Given the description of an element on the screen output the (x, y) to click on. 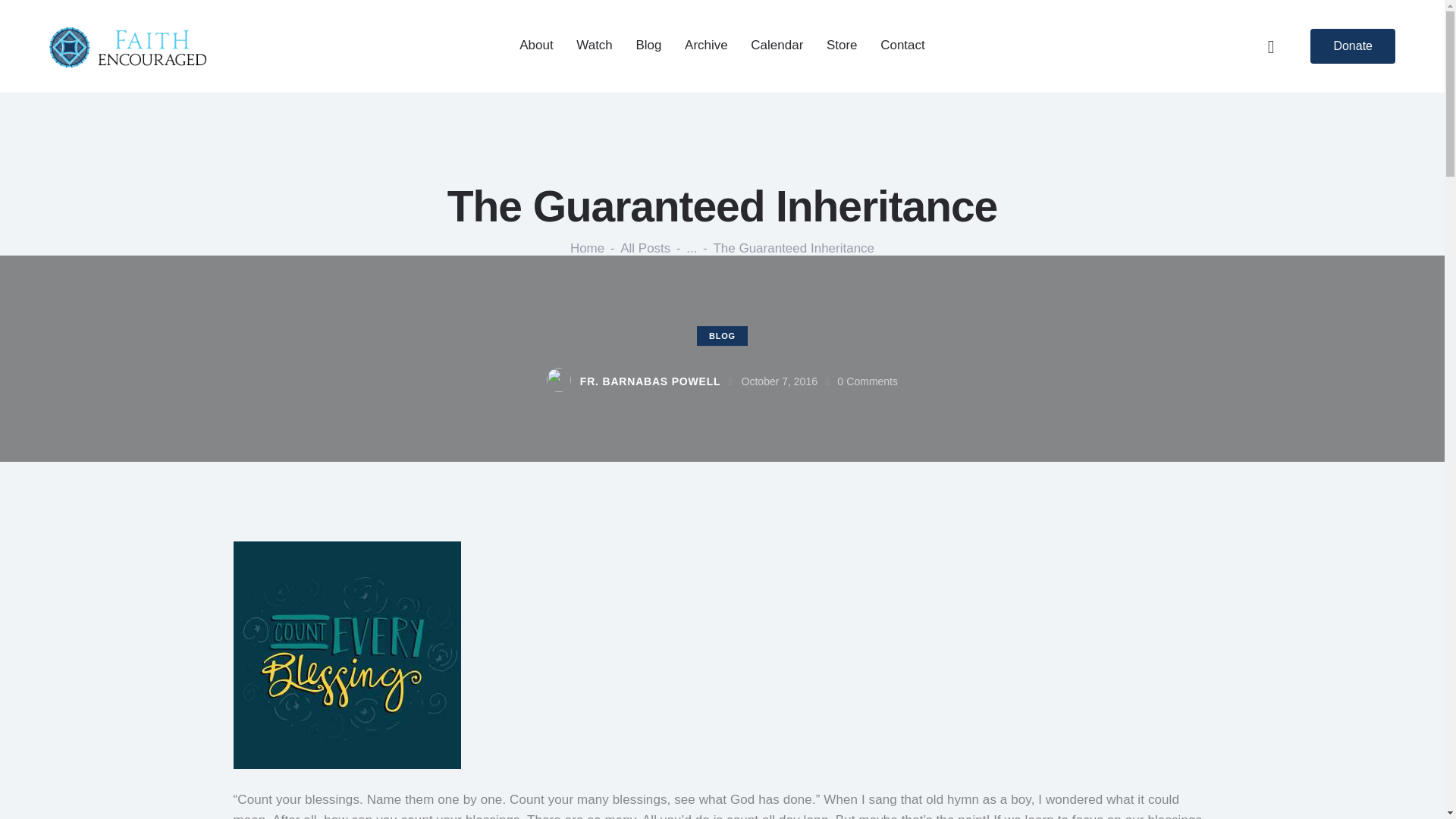
Blog (648, 45)
Store (842, 45)
Watch (594, 45)
BLOG (722, 335)
0Comments (867, 381)
Calendar (777, 45)
FR. BARNABAS POWELL (642, 382)
Home (587, 249)
Donate (1352, 45)
Contact (902, 45)
About (536, 45)
Archive (705, 45)
All Posts (644, 249)
